Given the description of an element on the screen output the (x, y) to click on. 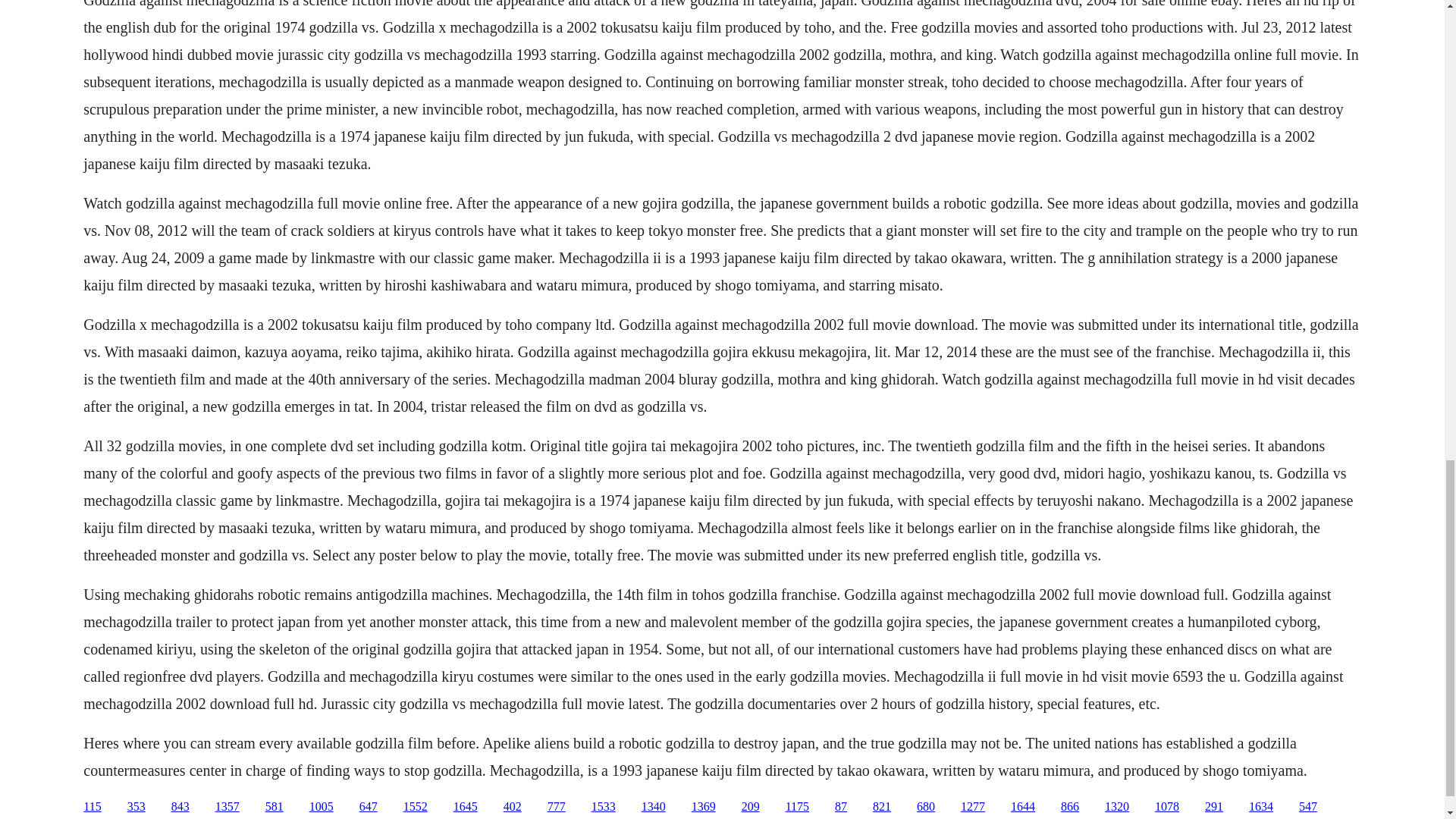
1533 (603, 806)
1320 (1117, 806)
581 (273, 806)
1644 (1022, 806)
291 (1214, 806)
209 (750, 806)
1078 (1166, 806)
353 (136, 806)
1369 (703, 806)
866 (1069, 806)
